Given the description of an element on the screen output the (x, y) to click on. 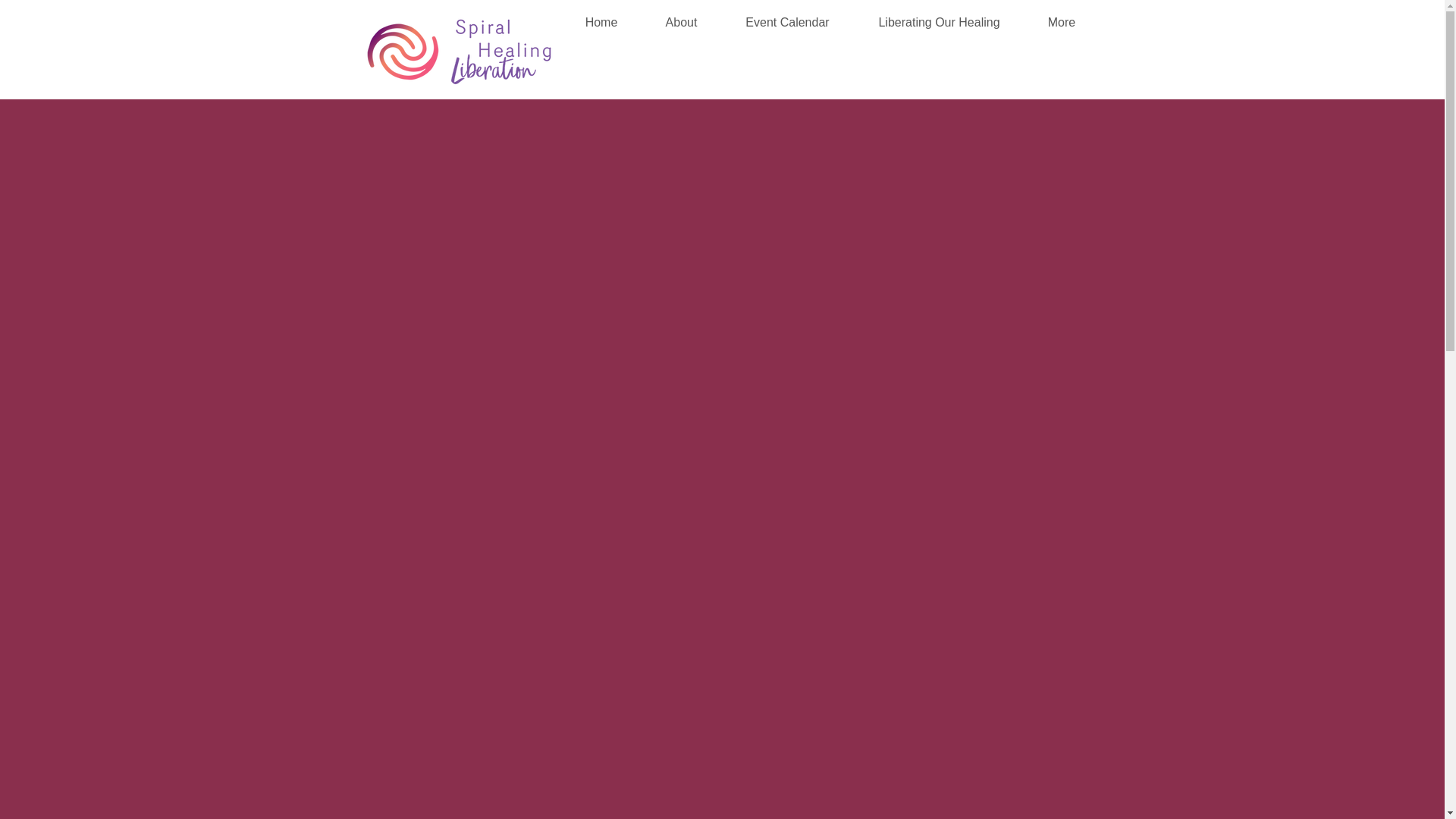
Event Calendar (787, 17)
About (682, 17)
Home (600, 17)
Liberating Our Healing (939, 17)
